Given the description of an element on the screen output the (x, y) to click on. 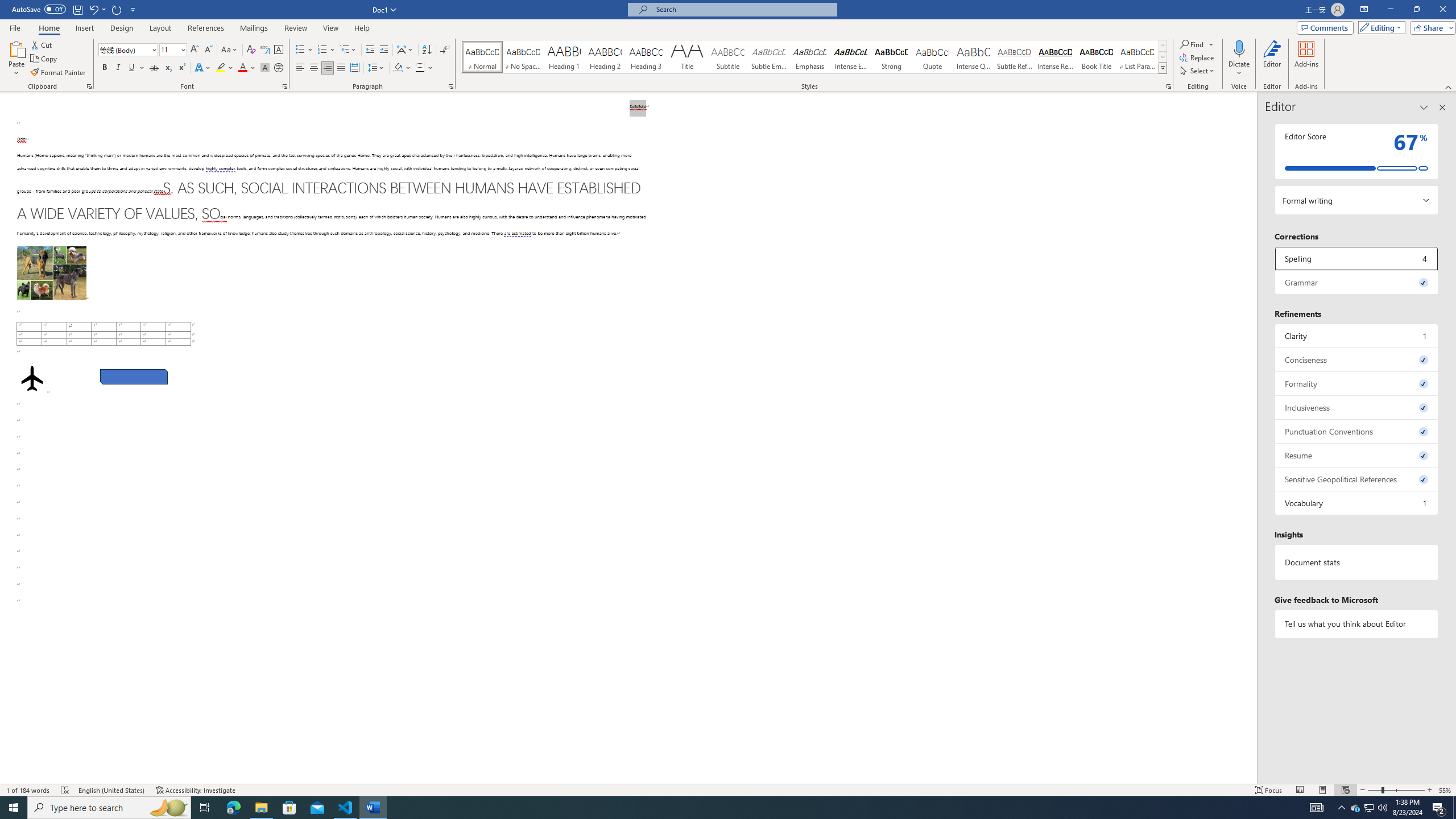
Book Title (1095, 56)
Repeat Paragraph Alignment (117, 9)
Grammar, 0 issues. Press space or enter to review items. (1356, 282)
